Given the description of an element on the screen output the (x, y) to click on. 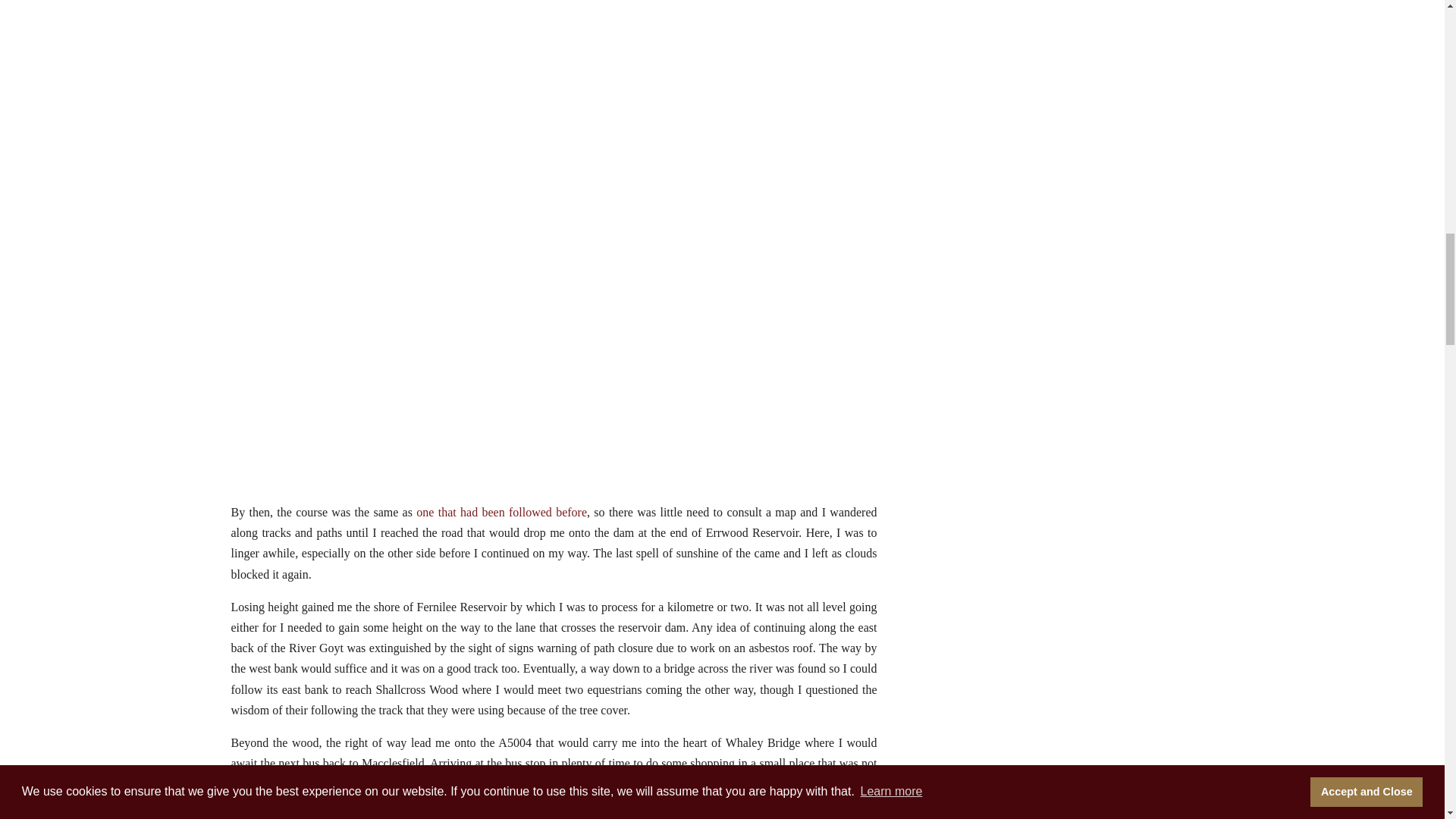
one that had been followed before (501, 512)
